Given the description of an element on the screen output the (x, y) to click on. 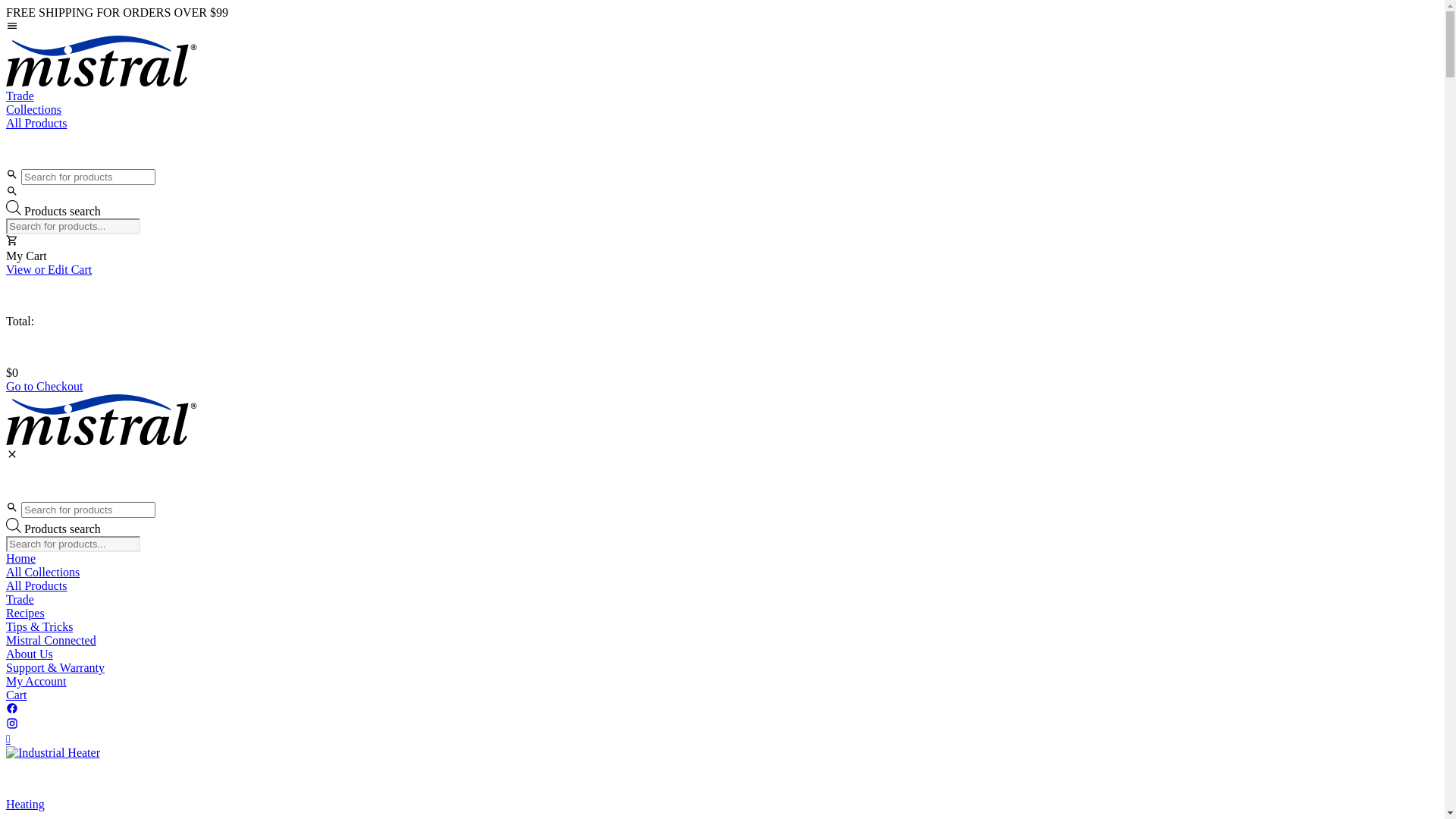
Tips & Tricks Element type: text (722, 626)
About Us Element type: text (722, 654)
Home Element type: text (722, 558)
View or Edit Cart Element type: text (722, 269)
Cart Element type: text (722, 695)
Mistral Connected Element type: text (722, 640)
Collections Element type: text (722, 109)
Support & Warranty Element type: text (722, 667)
All Collections Element type: text (722, 572)
2400W Industrial Heater with LED Worklight image 0 Element type: hover (53, 752)
Heating Element type: text (25, 803)
Recipes Element type: text (722, 613)
All Products Element type: text (722, 586)
Trade Element type: text (722, 96)
Trade Element type: text (722, 599)
All Products Element type: text (722, 123)
My Account Element type: text (722, 681)
Go to Checkout Element type: text (722, 386)
